Given the description of an element on the screen output the (x, y) to click on. 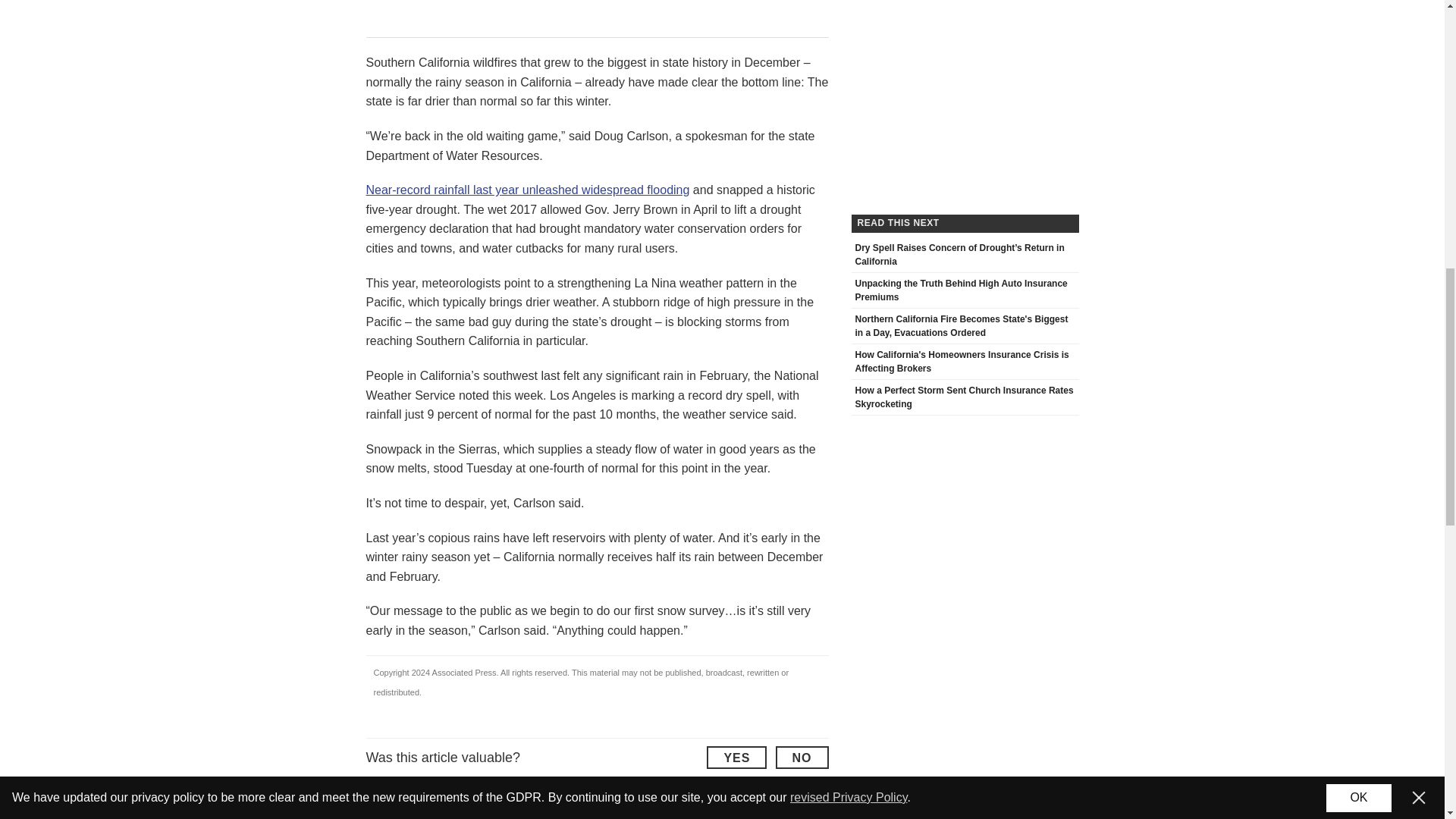
YES (736, 757)
NO (801, 757)
Near-record rainfall last year unleashed widespread flooding (526, 189)
